Given the description of an element on the screen output the (x, y) to click on. 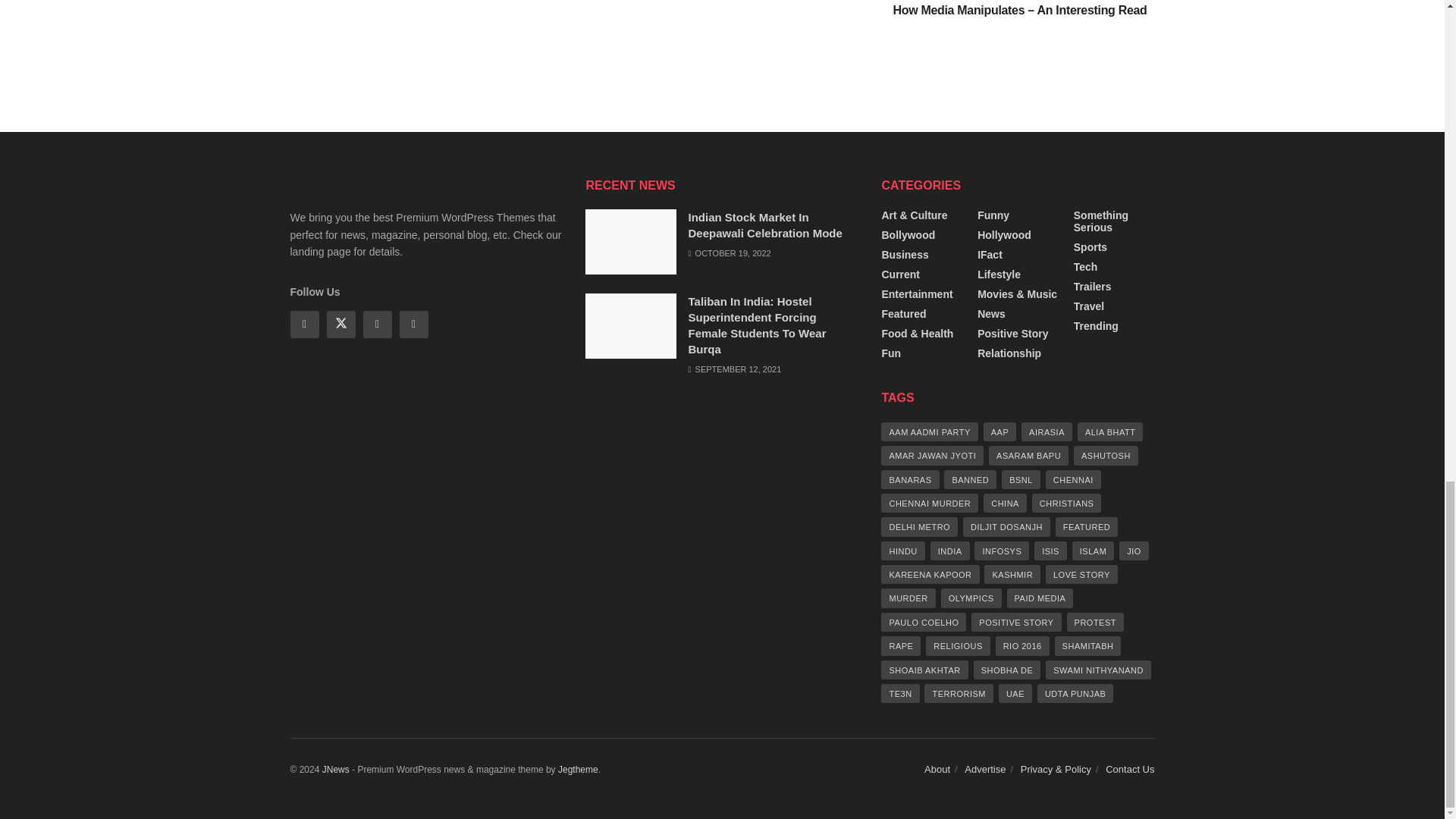
Jegtheme (577, 769)
